Given the description of an element on the screen output the (x, y) to click on. 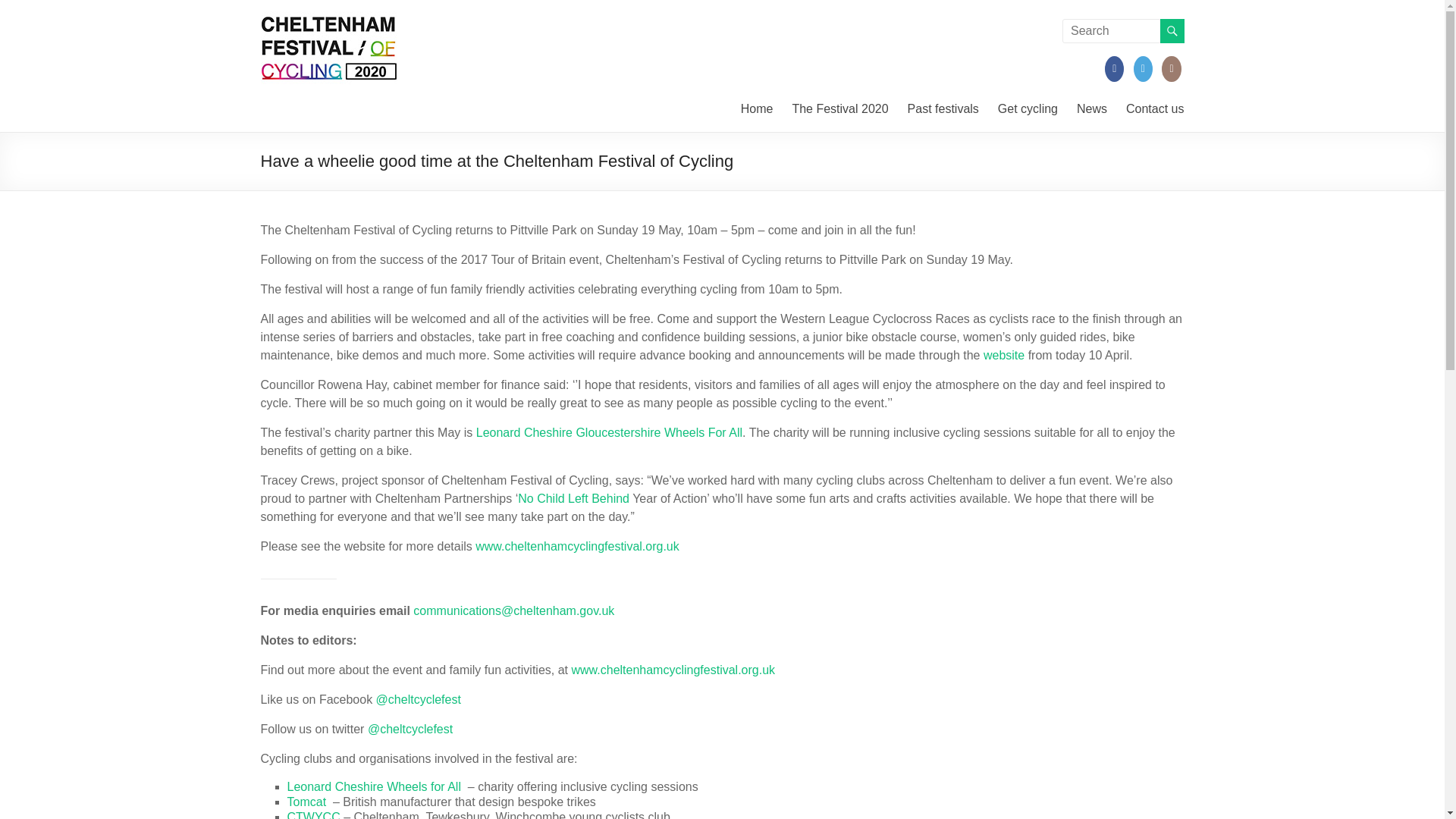
Leonard Cheshire Gloucestershire Wheels For All (609, 431)
website (1004, 354)
News (1091, 108)
Home (757, 108)
The Festival 2020 (840, 108)
Get cycling (1027, 108)
Leonard Cheshire Wheels for All (373, 786)
www.cheltenhamcyclingfestival.org.uk (577, 545)
Contact us (1154, 108)
No Child Left Behind (573, 498)
